Given the description of an element on the screen output the (x, y) to click on. 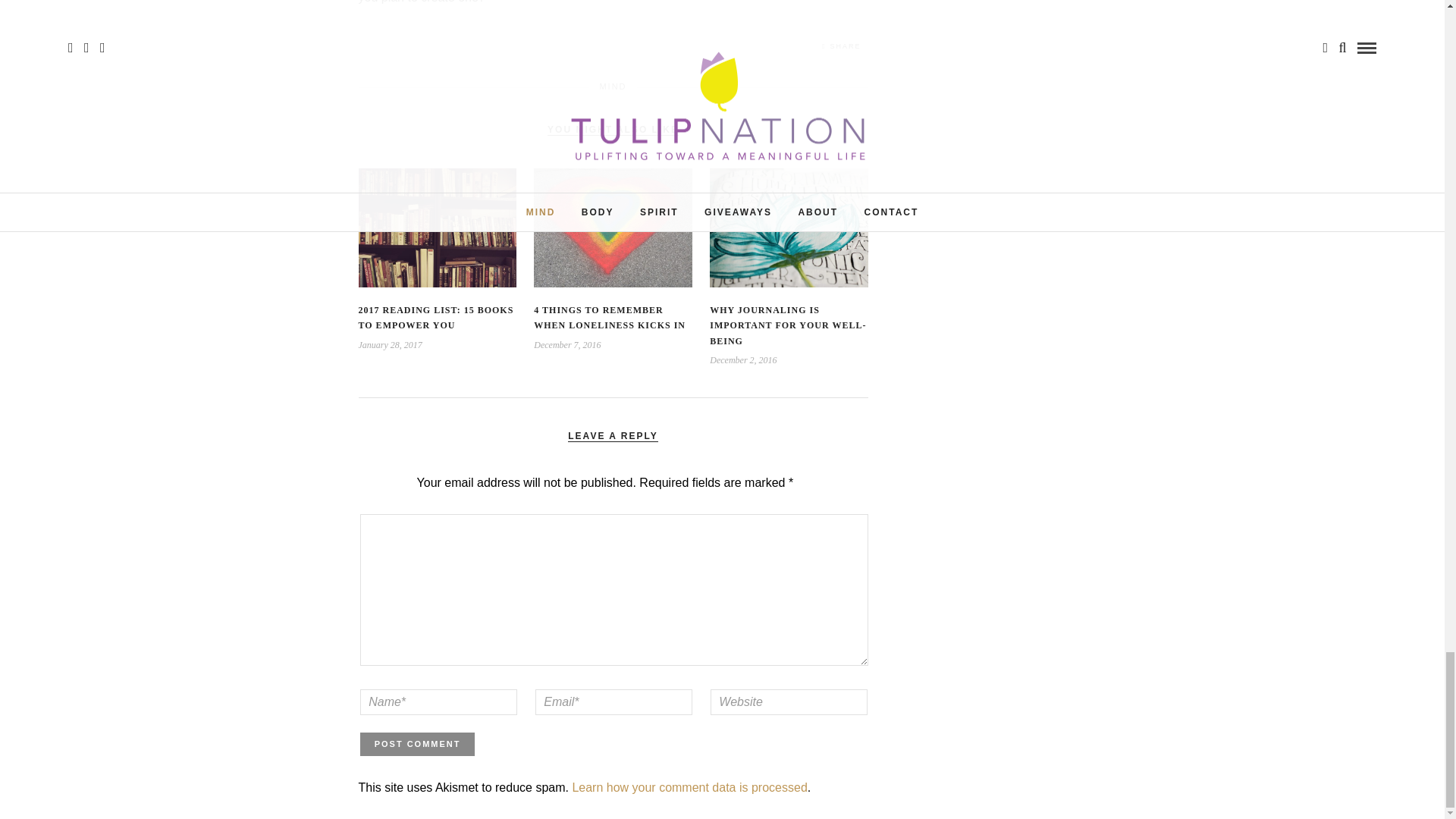
Why Journaling Is Important For Your Well-Being (788, 325)
4 THINGS TO REMEMBER WHEN LONELINESS KICKS IN (609, 317)
Post Comment (416, 744)
Post Comment (416, 744)
2017 Reading List: 15 Books To Empower You (435, 317)
MIND (612, 85)
WHY JOURNALING IS IMPORTANT FOR YOUR WELL-BEING (788, 325)
4 Things To Remember When Loneliness Kicks In (609, 317)
Learn how your comment data is processed (689, 787)
2017 READING LIST: 15 BOOKS TO EMPOWER YOU (435, 317)
